Given the description of an element on the screen output the (x, y) to click on. 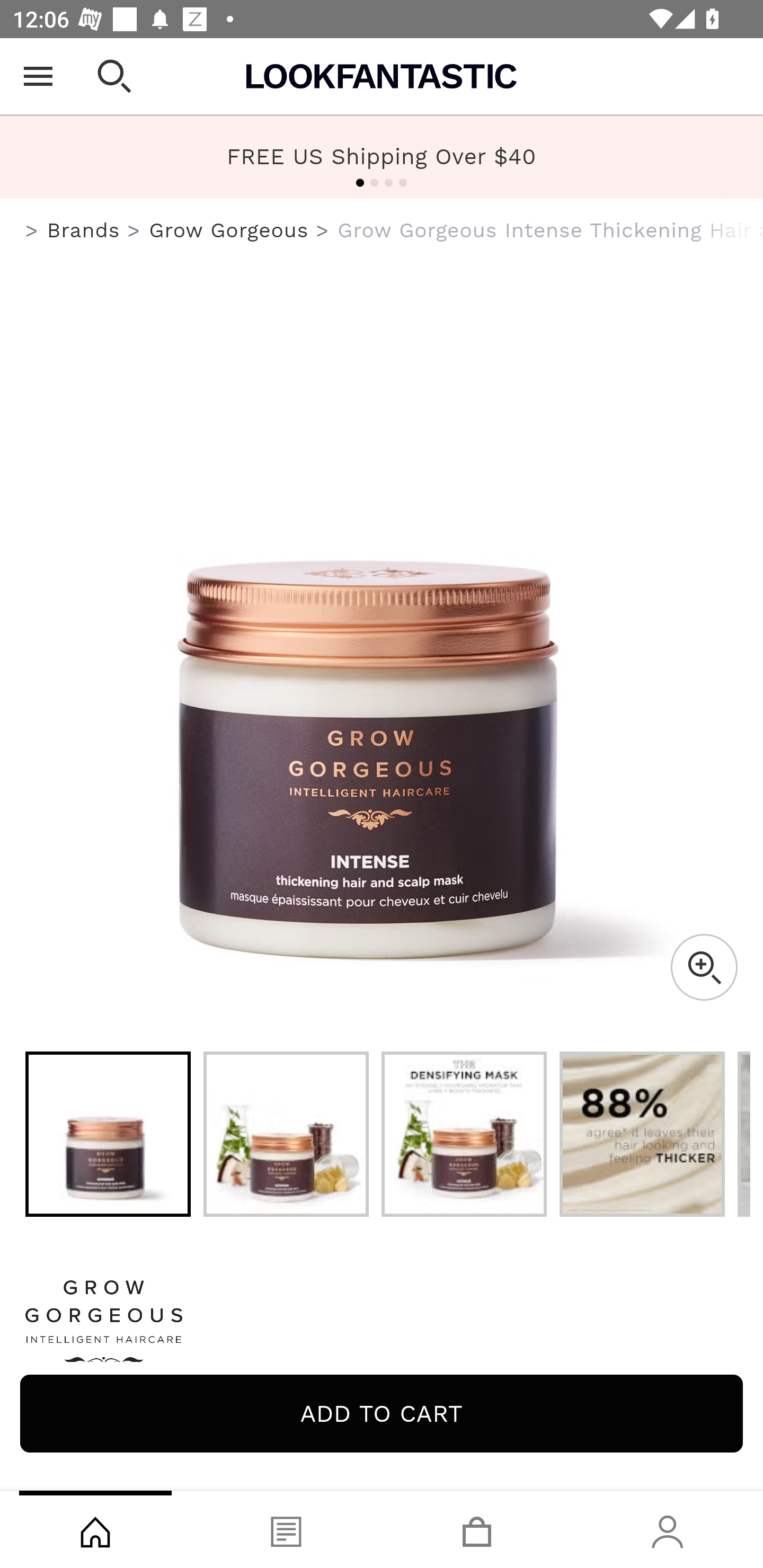
Open Menu (38, 75)
Open search (114, 75)
Lookfantastic USA (381, 75)
FREE US Shipping Over $40 (381, 157)
FREE US Shipping Over $40 (381, 155)
us.lookfantastic (32, 230)
Brands (82, 230)
Grow Gorgeous (228, 230)
Zoom (703, 966)
Grow Gorgeous (381, 1327)
Add to cart (381, 1413)
Shop, tab, 1 of 4 (95, 1529)
Blog, tab, 2 of 4 (285, 1529)
Basket, tab, 3 of 4 (476, 1529)
Account, tab, 4 of 4 (667, 1529)
